Given the description of an element on the screen output the (x, y) to click on. 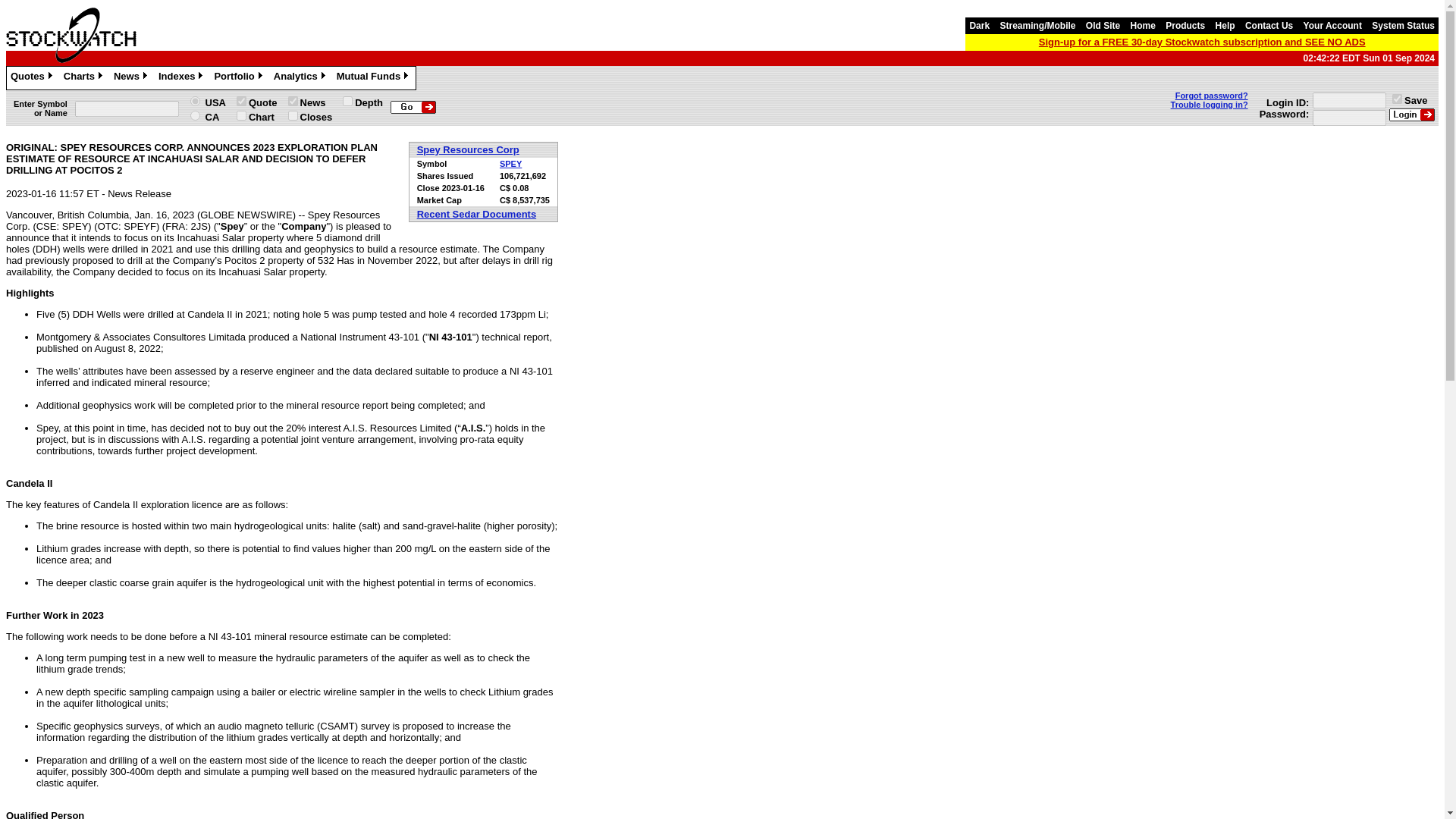
Old Site (1102, 25)
on (293, 101)
RadioCanada2 (195, 115)
on (293, 115)
on (347, 101)
Dark (978, 25)
Help (1225, 25)
Home (1142, 25)
Your Account (1332, 25)
